Given the description of an element on the screen output the (x, y) to click on. 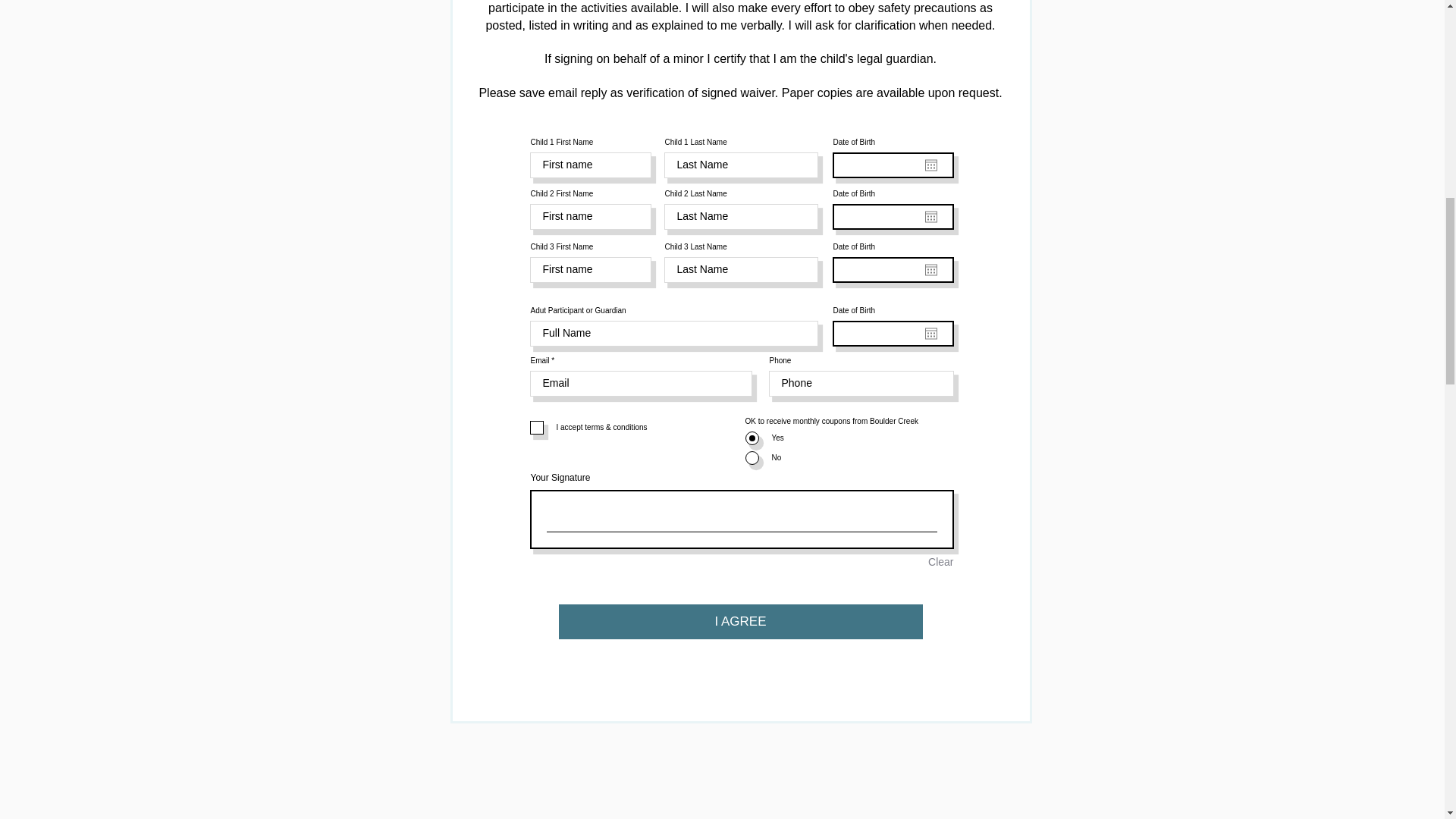
I AGREE (739, 620)
Clear (940, 562)
